Given the description of an element on the screen output the (x, y) to click on. 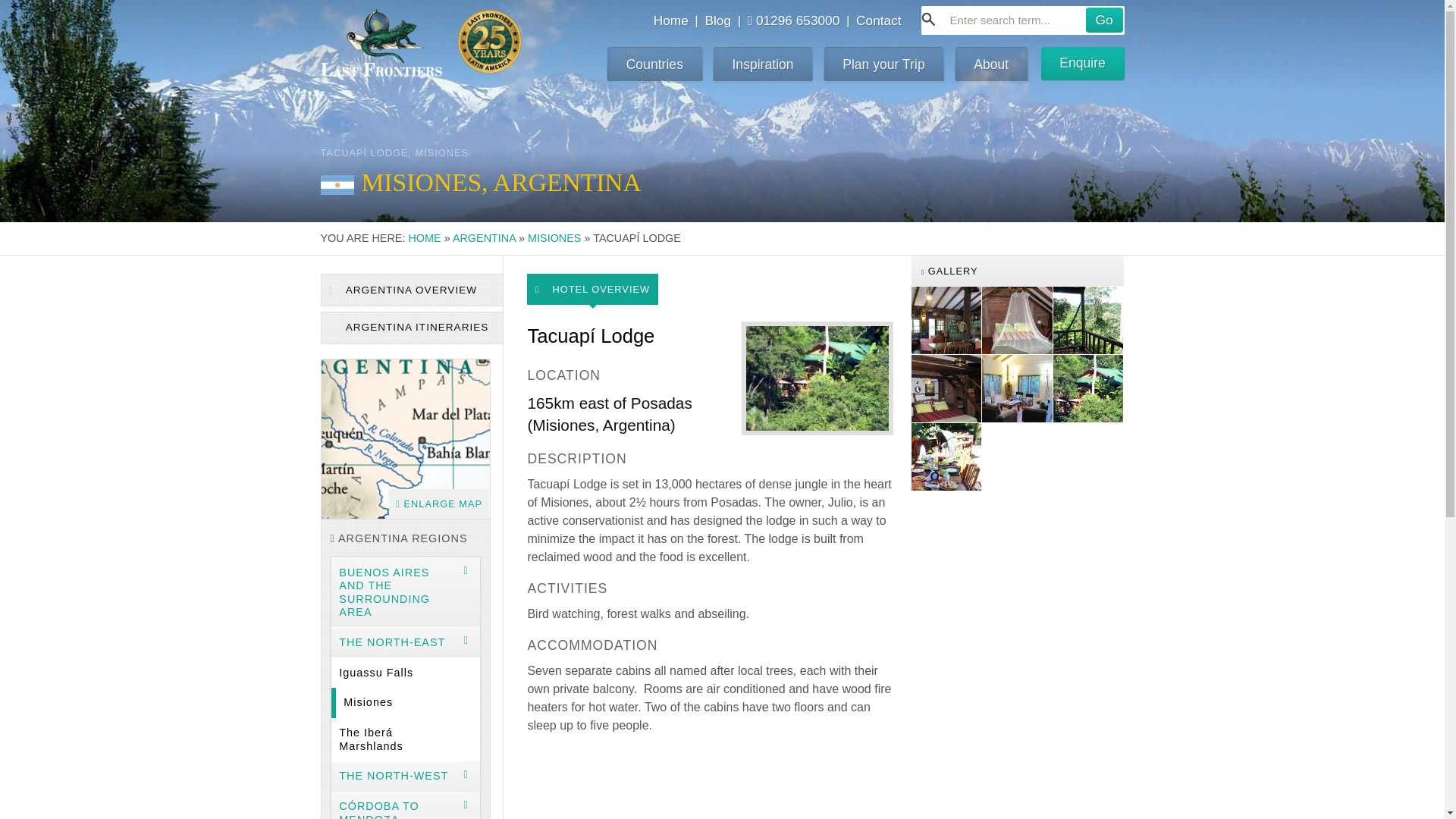
Contact (878, 20)
Home (670, 20)
Tacuapi Lodge (946, 457)
Enquire (1082, 63)
Go (1104, 19)
Tacuapi Lodge (1016, 320)
Go (1104, 19)
Tacuapi Lodge (946, 320)
Tacuapi Lodge (946, 388)
Argentina region map (404, 438)
Tacuapi Lodge (1088, 320)
Blog (717, 20)
Inspiration (762, 63)
Tacuapi Lodge (1088, 388)
Tacuapi Lodge (1016, 388)
